Given the description of an element on the screen output the (x, y) to click on. 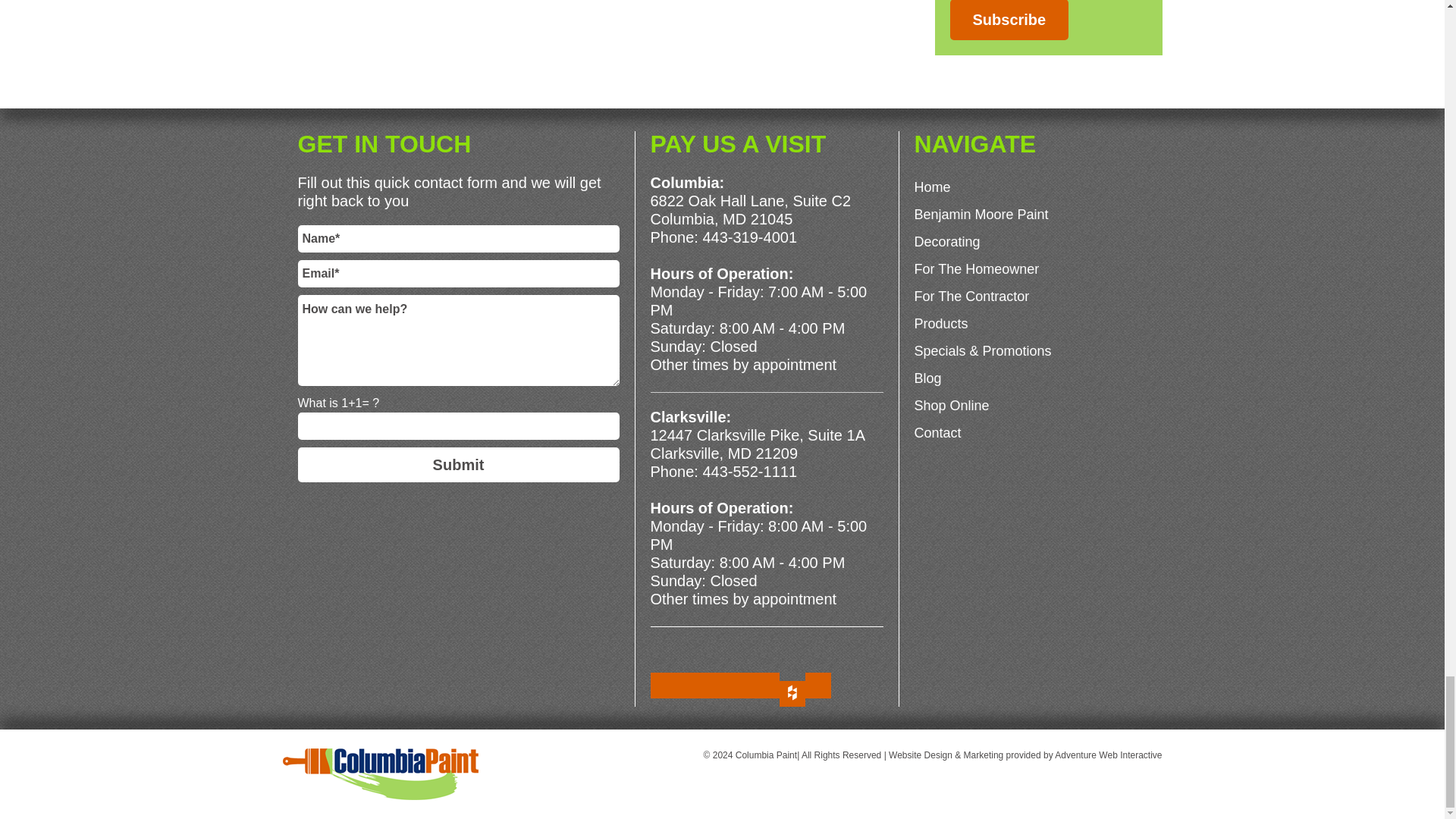
Submit (457, 464)
